Given the description of an element on the screen output the (x, y) to click on. 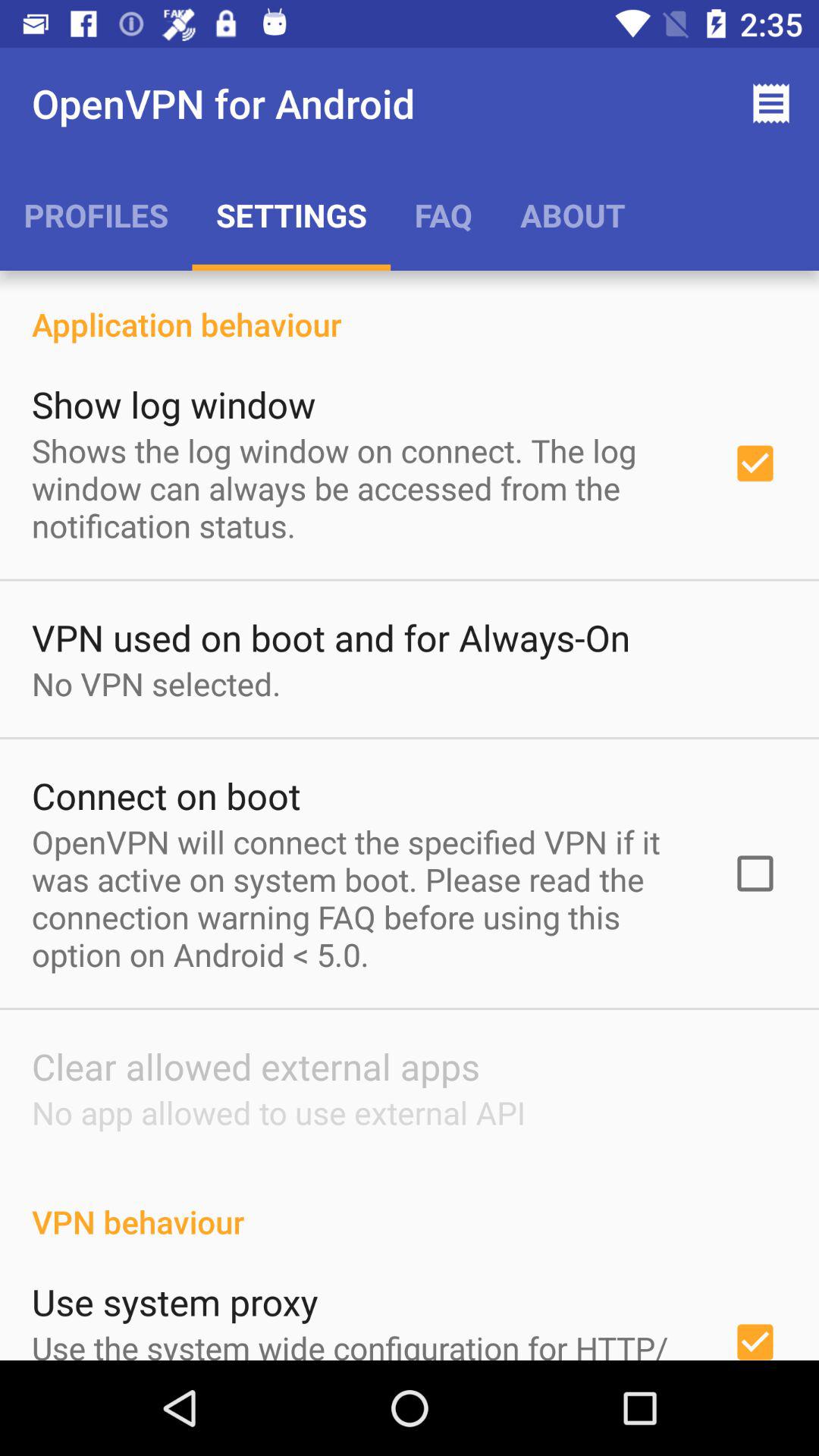
turn on the icon below the profiles (409, 307)
